Given the description of an element on the screen output the (x, y) to click on. 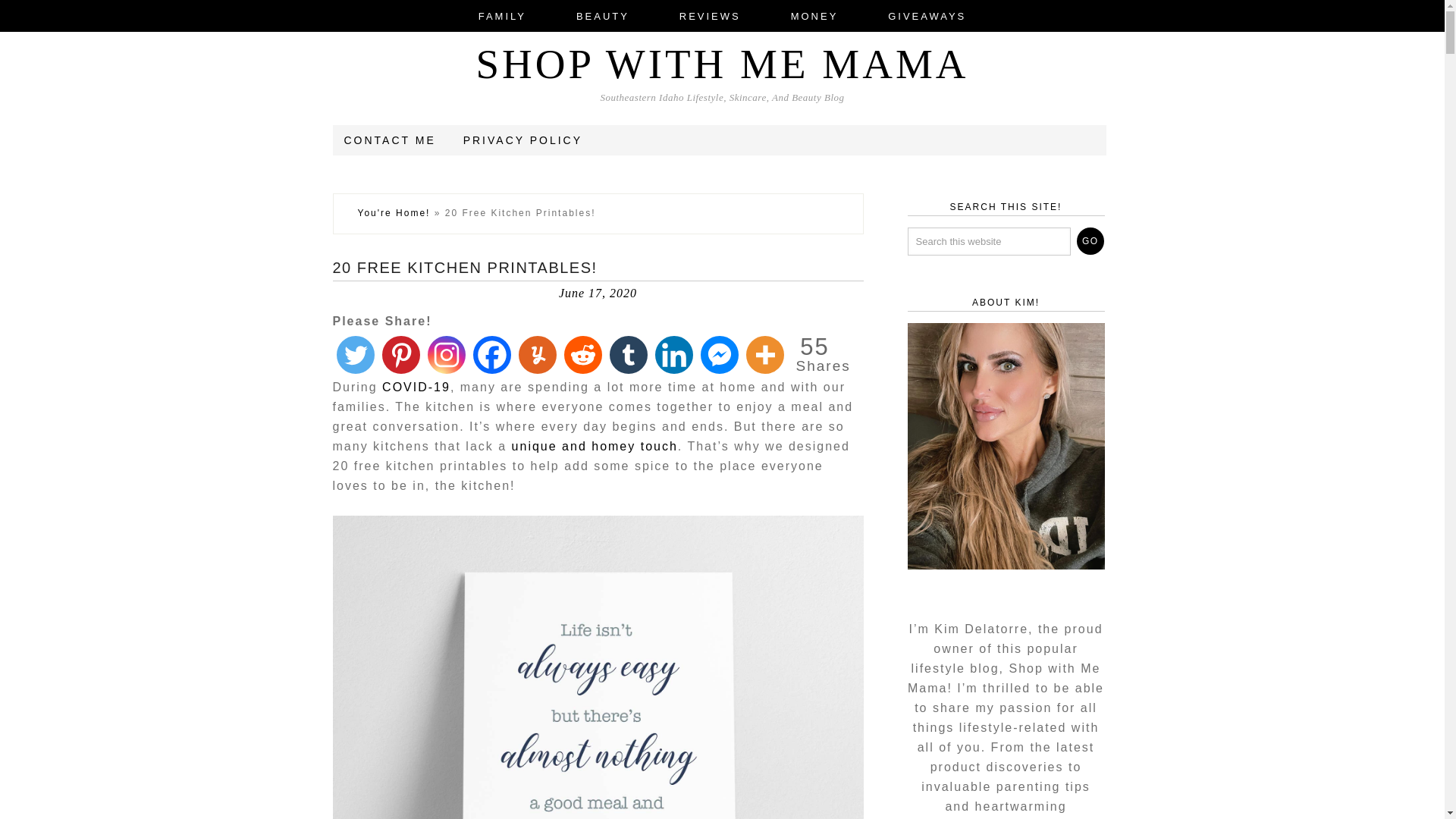
BEAUTY (602, 15)
CONTACT ME (389, 140)
Facebook (491, 354)
FAMILY (501, 15)
Total Shares (815, 353)
Yummly (536, 354)
Linkedin (673, 354)
Reddit (582, 354)
More (764, 354)
GIVEAWAYS (926, 15)
GO (1090, 240)
SHOP WITH ME MAMA (722, 63)
Pinterest (400, 354)
Tumblr (628, 354)
GO (1090, 240)
